Given the description of an element on the screen output the (x, y) to click on. 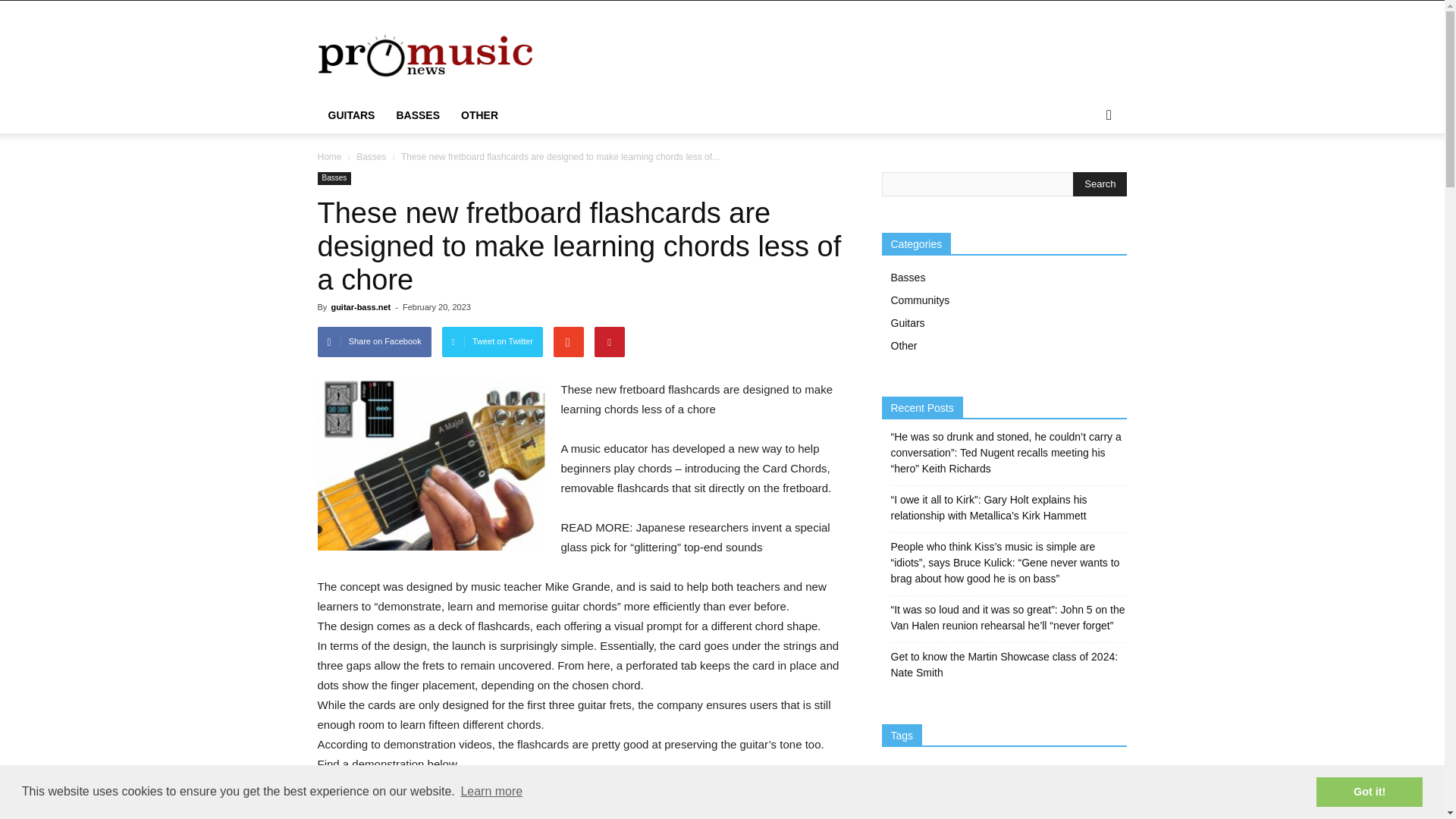
Tweet on Twitter (492, 341)
View all posts in Basses (370, 156)
Share on Facebook (373, 341)
guitar-bass.net (360, 307)
Basses (333, 178)
Search (1099, 183)
Got it! (1369, 791)
Cardchords-promotional-image402000x1500 (430, 465)
Learn more (491, 791)
OTHER (478, 115)
BASSES (417, 115)
GUITARS (351, 115)
Home (328, 156)
Basses (370, 156)
